Given the description of an element on the screen output the (x, y) to click on. 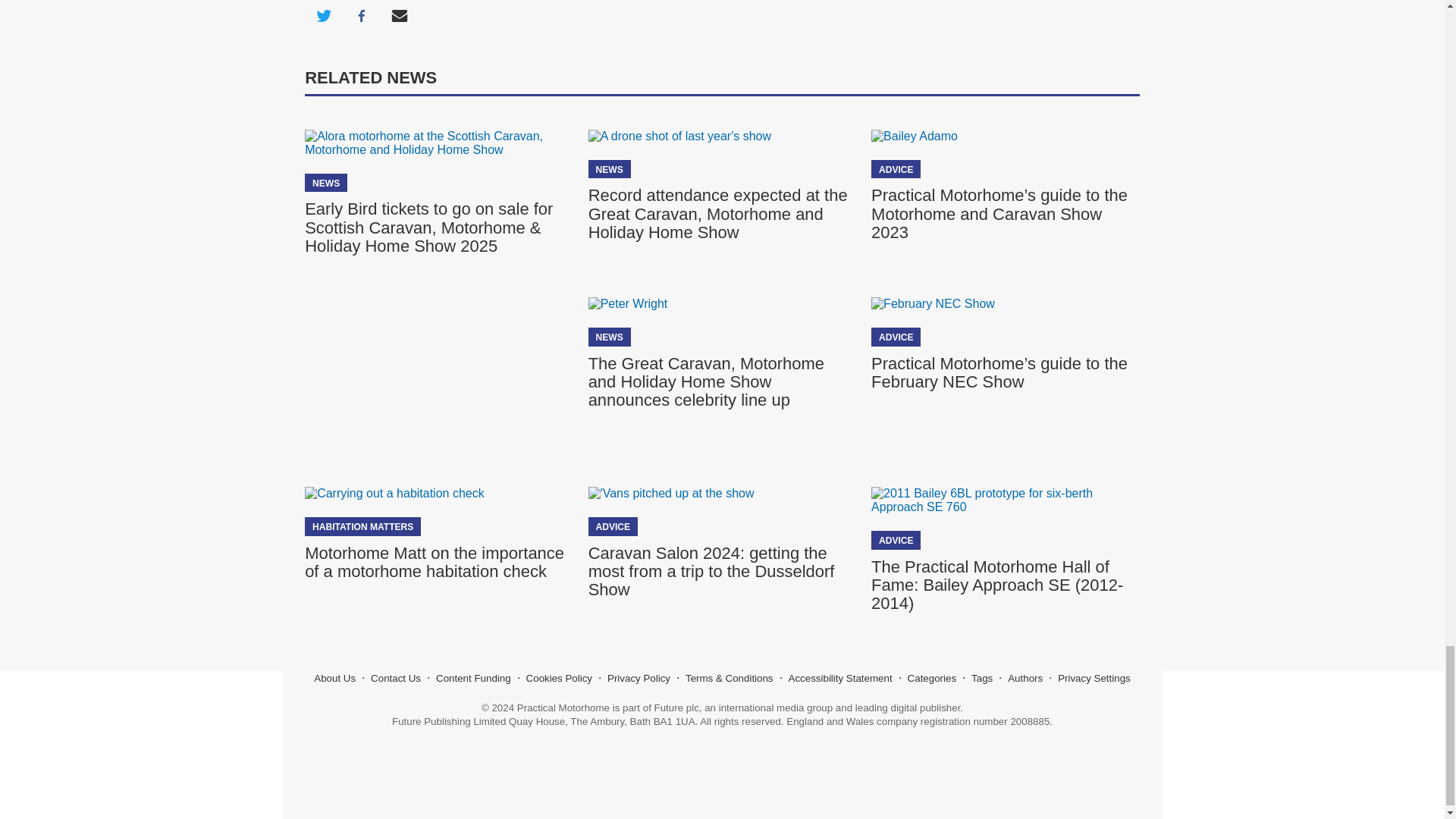
Share on Facebook (361, 17)
Share via Email (399, 17)
Share on Twitter (323, 17)
